Given the description of an element on the screen output the (x, y) to click on. 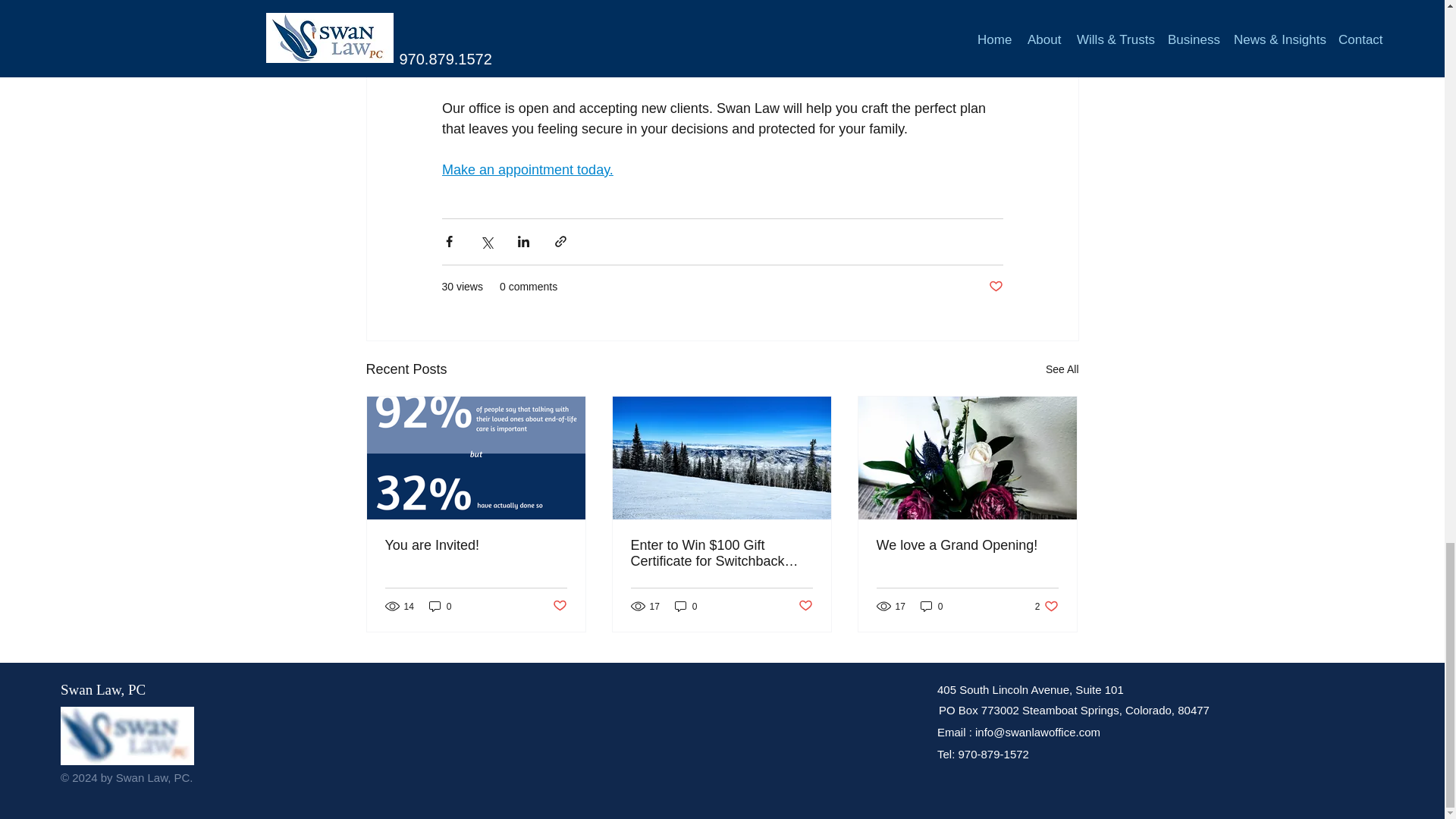
See All (1061, 369)
Post not marked as liked (558, 606)
0 (685, 605)
Post not marked as liked (804, 606)
We love a Grand Opening! (967, 545)
0 (440, 605)
0 (931, 605)
Swan Law, PC (103, 689)
You are Invited! (476, 545)
Make an appointment today. (526, 169)
